Given the description of an element on the screen output the (x, y) to click on. 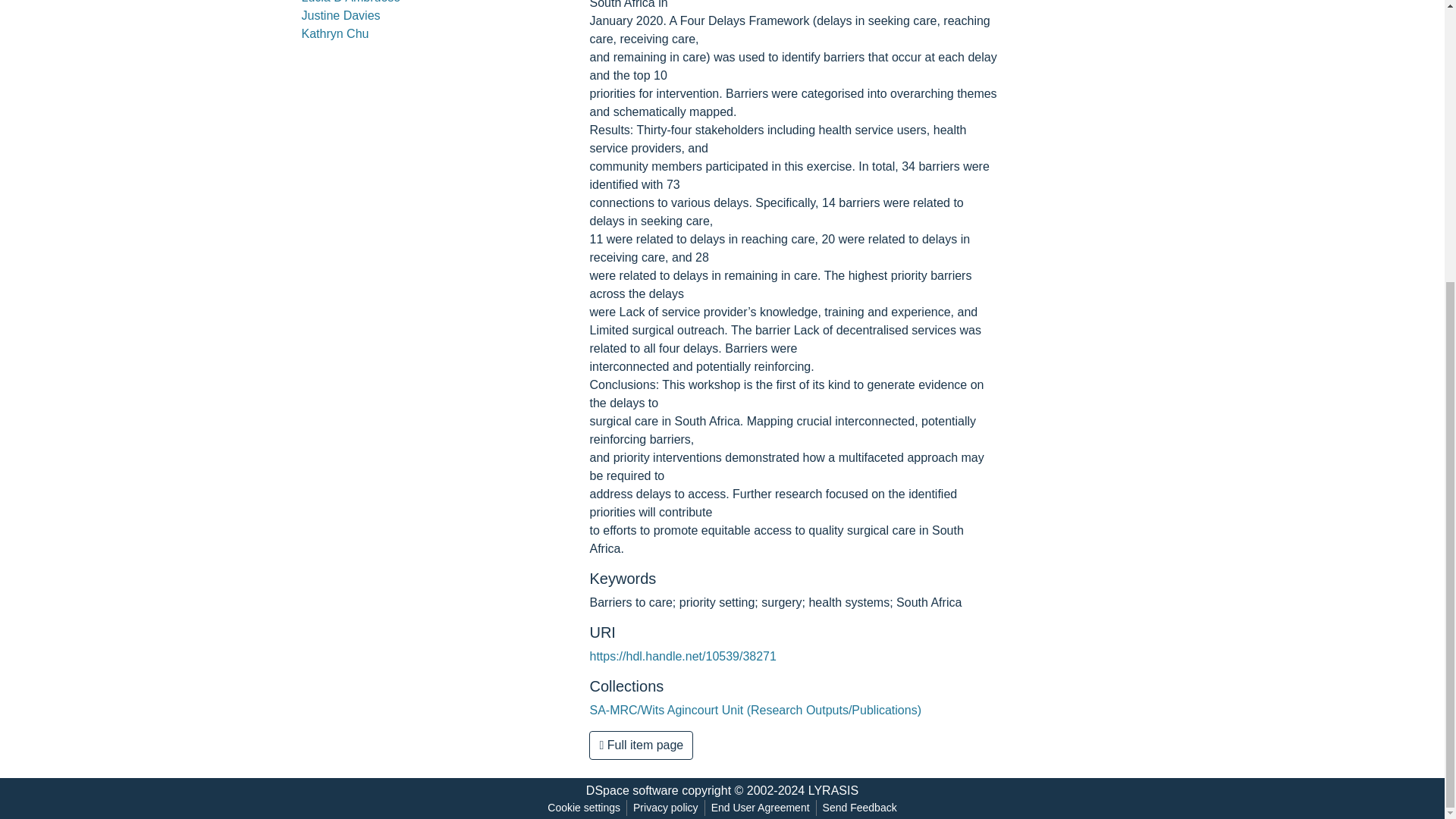
DSpace software (632, 789)
End User Agreement (759, 807)
Send Feedback (859, 807)
Kathryn Chu (335, 33)
Full item page (641, 745)
Cookie settings (583, 807)
Privacy policy (665, 807)
LYRASIS (833, 789)
Justine Davies (340, 15)
